Given the description of an element on the screen output the (x, y) to click on. 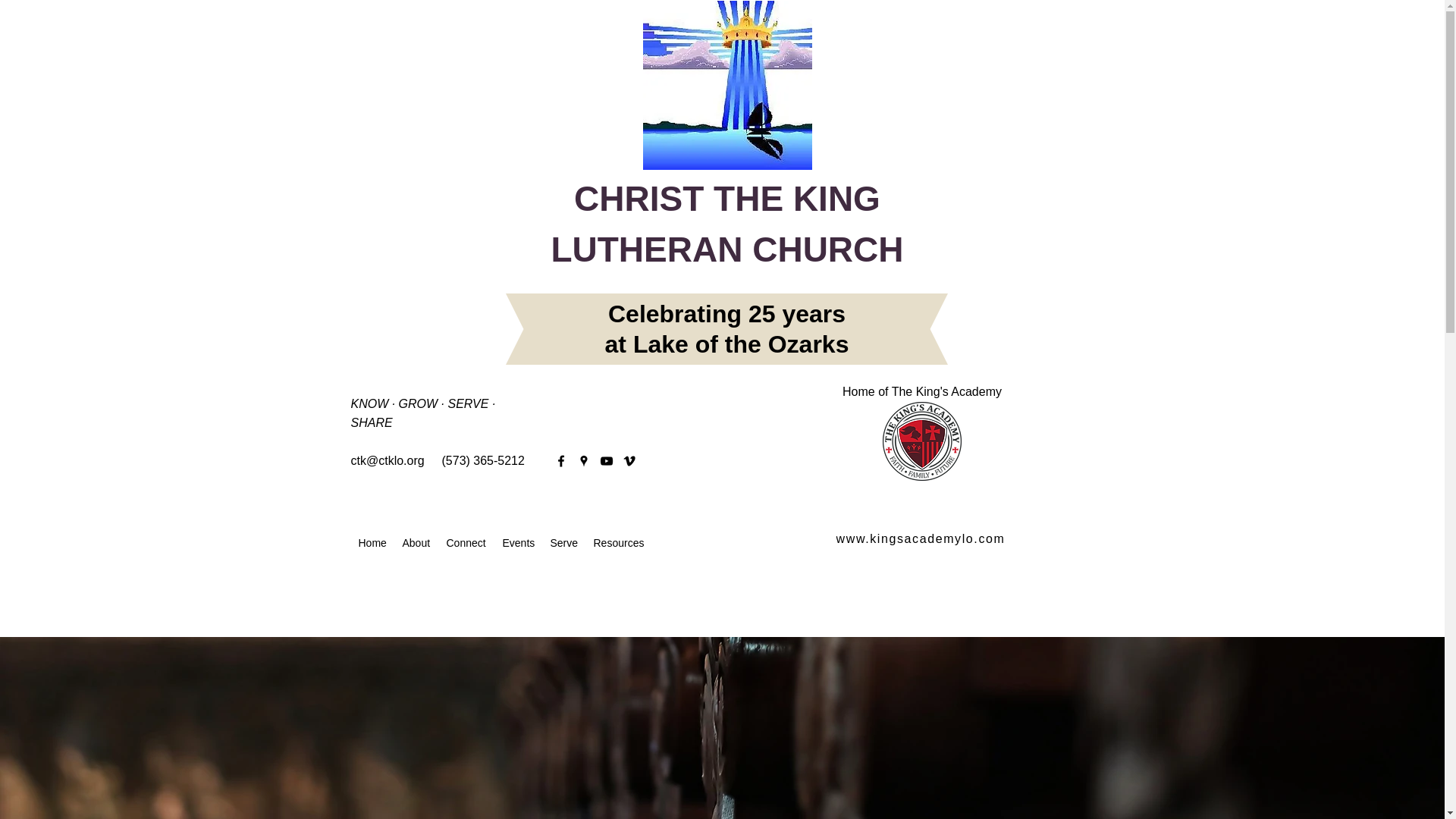
Serve (564, 541)
Events (518, 541)
Home (372, 541)
Connect (466, 541)
About (416, 541)
